Given the description of an element on the screen output the (x, y) to click on. 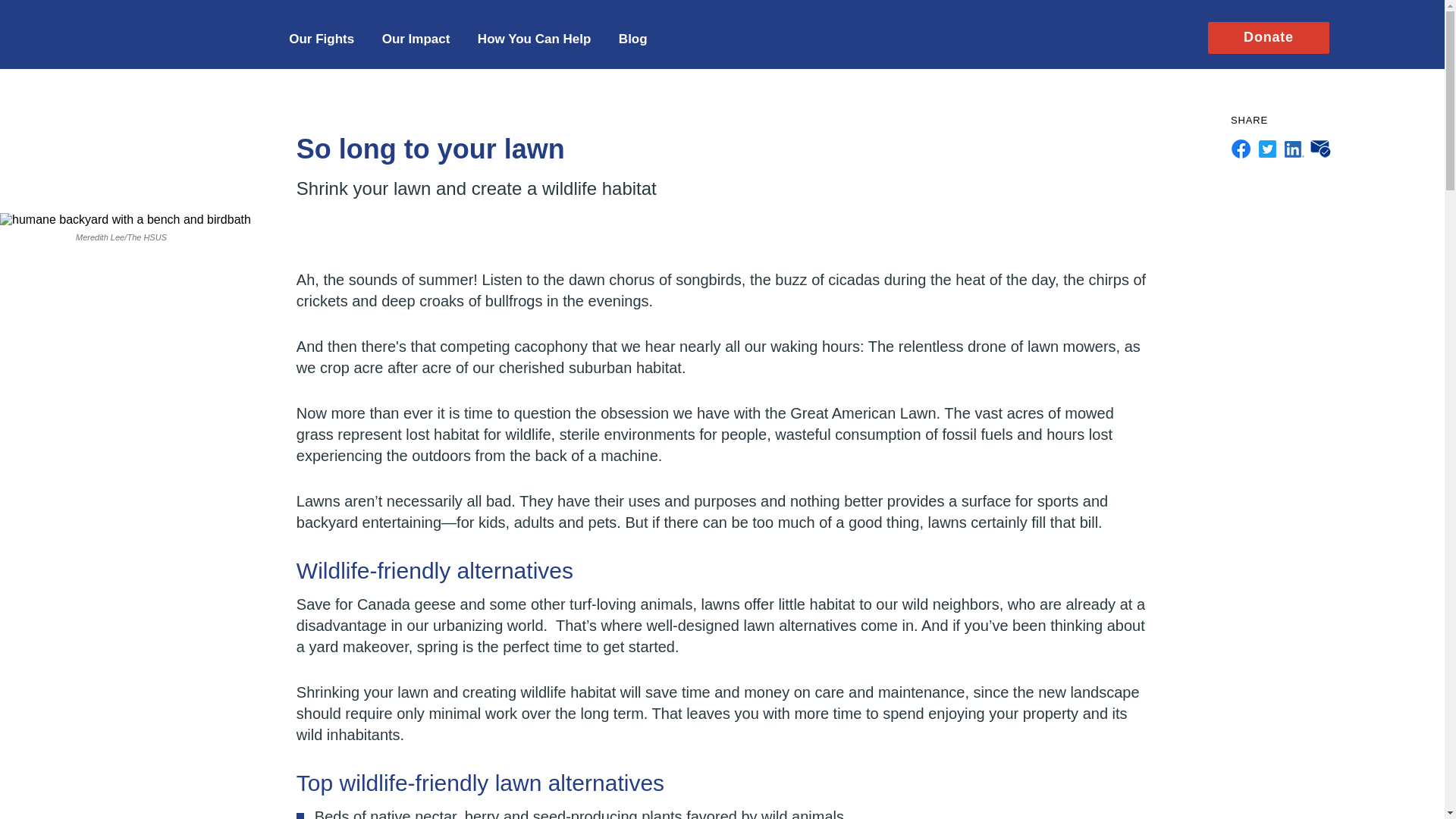
Our Impact (415, 38)
The Humane Society of the United States (168, 28)
Home (168, 28)
Ways to donate to the Humane Society of the United States (534, 38)
Our Impact (415, 38)
Donate (1268, 37)
Donate (1268, 37)
Our Fights (320, 38)
Our Fights (320, 38)
